Given the description of an element on the screen output the (x, y) to click on. 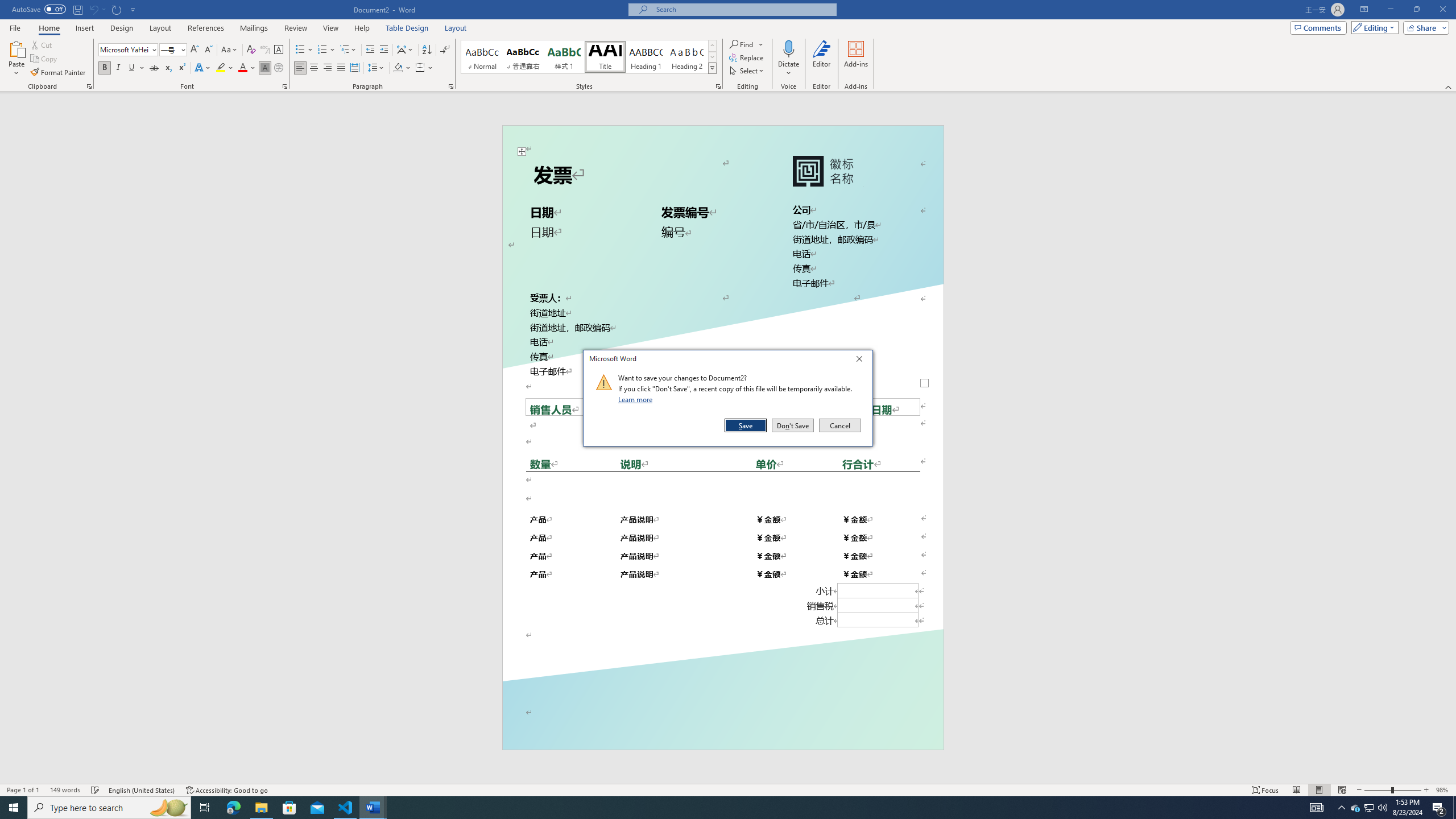
Page Number Page 1 of 1 (22, 790)
